Given the description of an element on the screen output the (x, y) to click on. 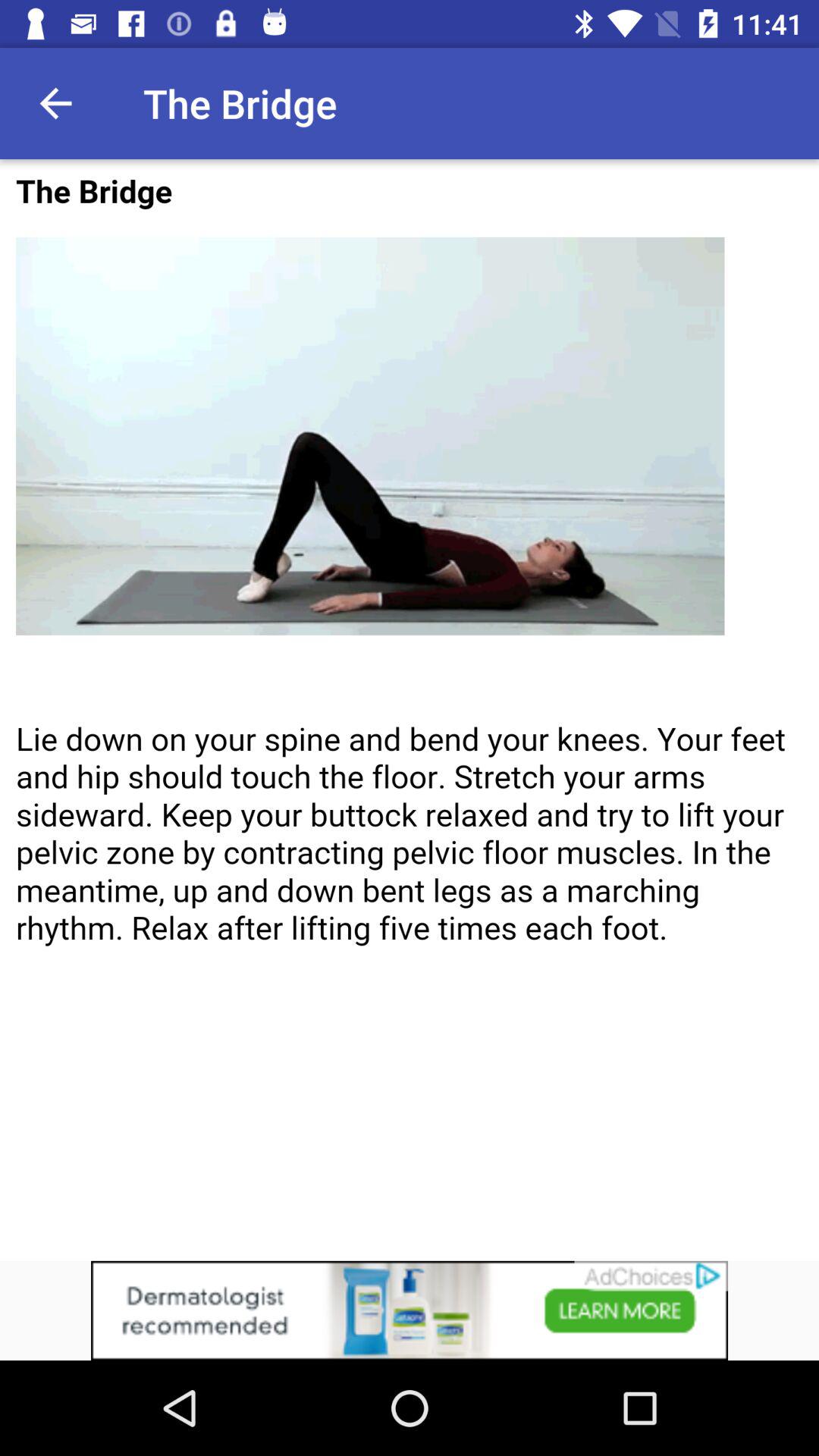
adverisement (409, 709)
